Given the description of an element on the screen output the (x, y) to click on. 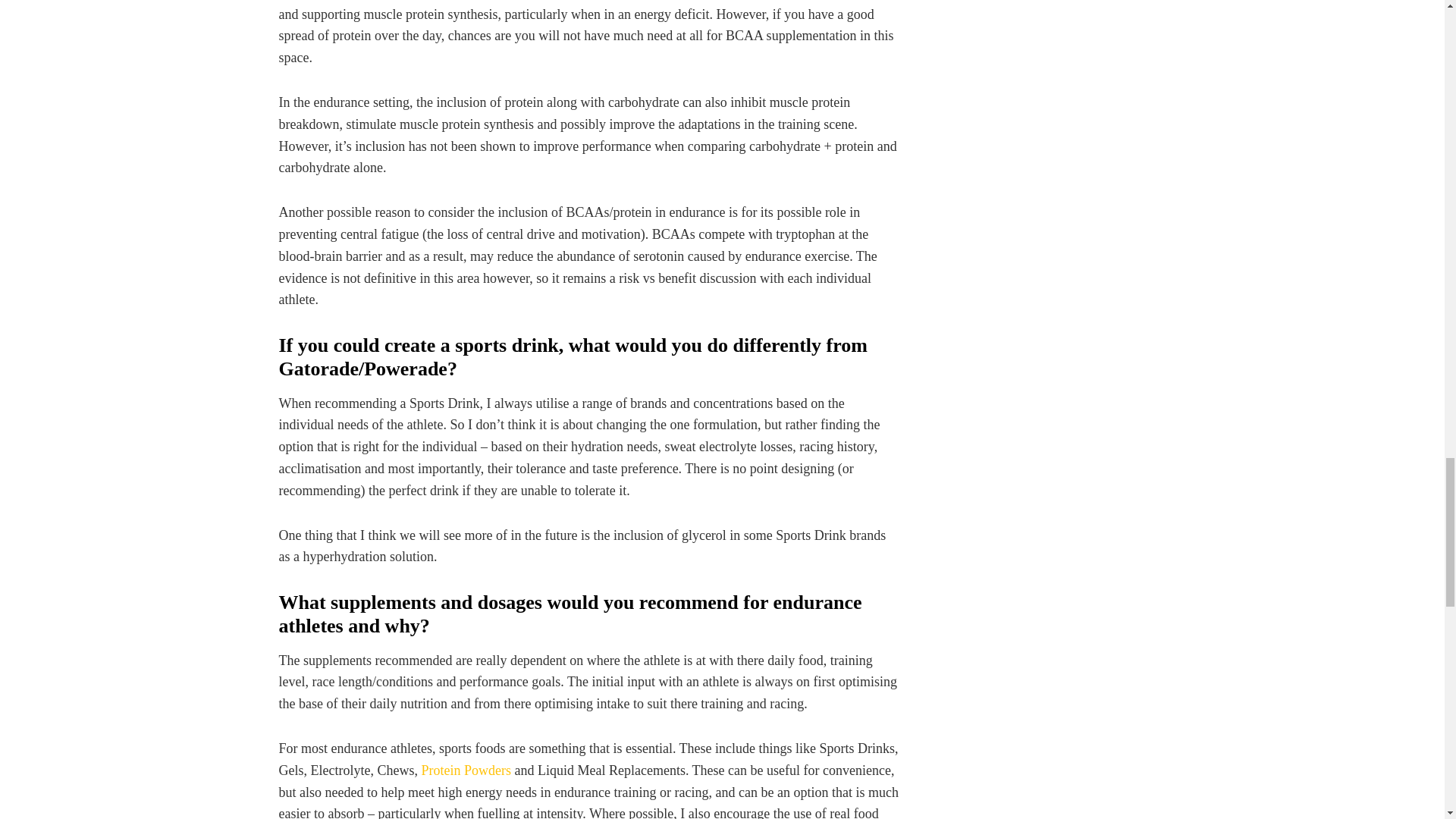
Protein Powders (465, 770)
